Given the description of an element on the screen output the (x, y) to click on. 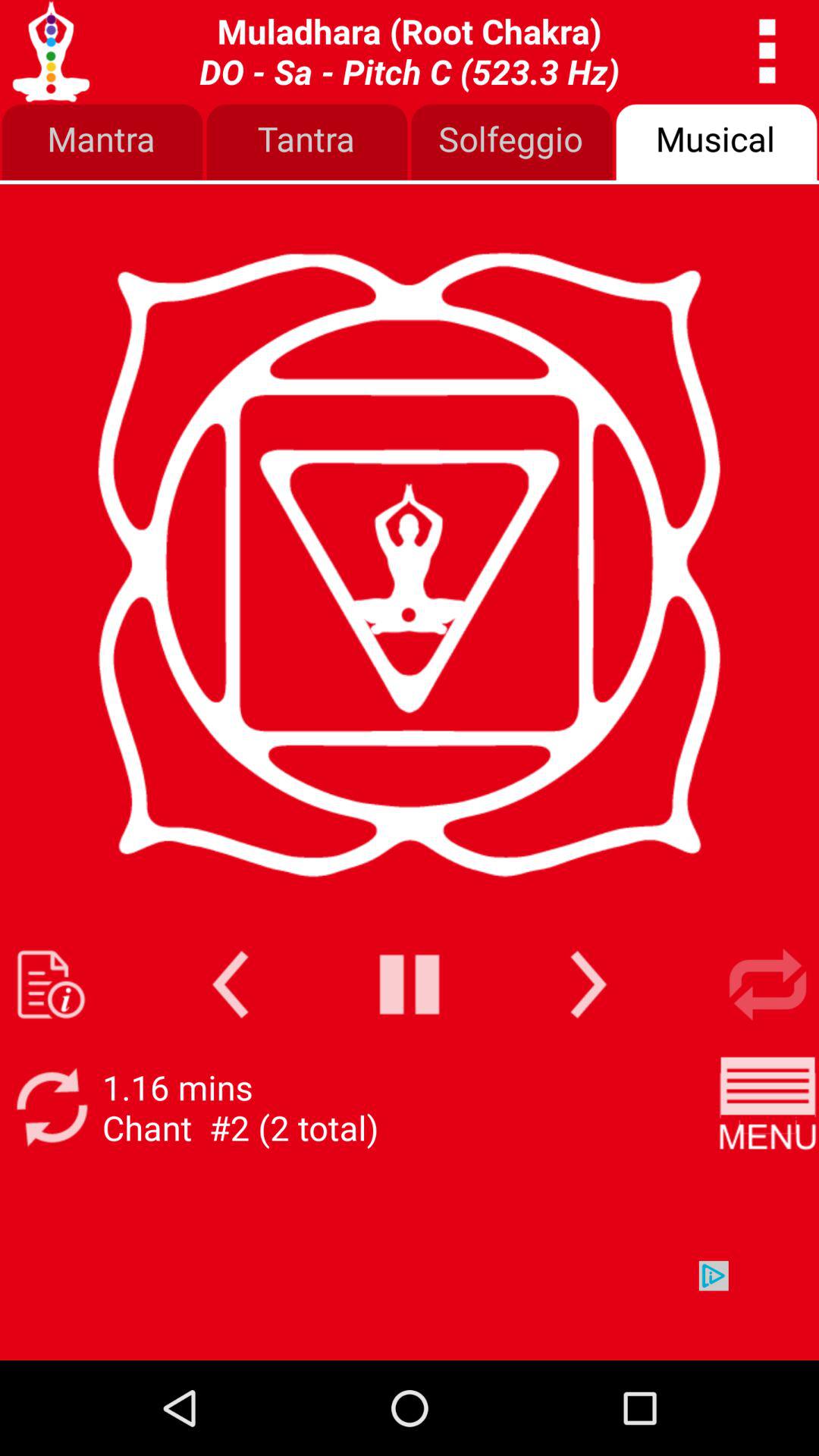
swipe until svadhishthana sacral chakra (409, 50)
